Given the description of an element on the screen output the (x, y) to click on. 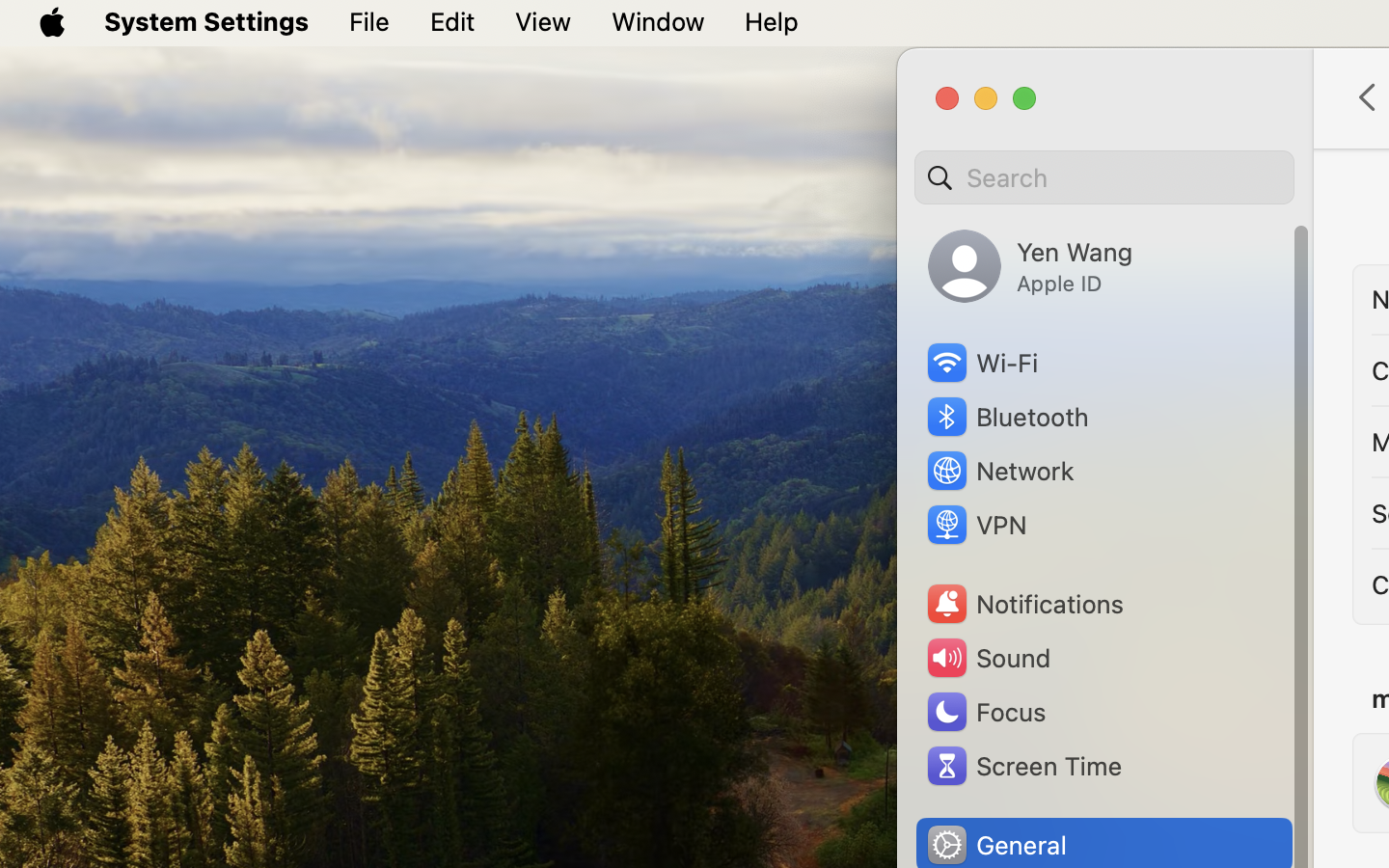
Focus Element type: AXStaticText (984, 711)
Wi‑Fi Element type: AXStaticText (980, 362)
VPN Element type: AXStaticText (975, 524)
Screen Time Element type: AXStaticText (1023, 765)
Sound Element type: AXStaticText (987, 657)
